Given the description of an element on the screen output the (x, y) to click on. 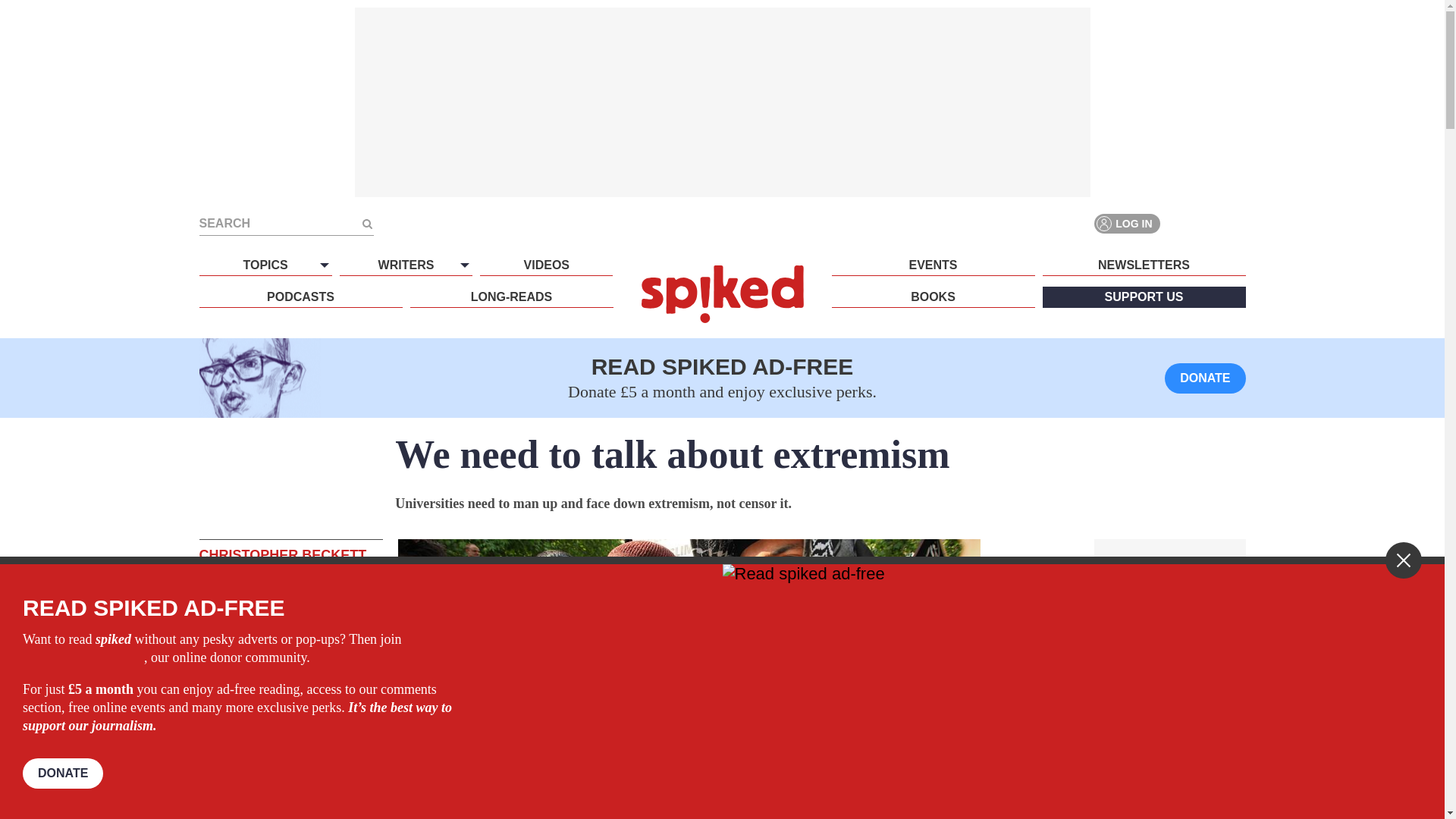
VIDEOS (546, 265)
Twitter (1207, 223)
LONG-READS (510, 296)
Facebook (1180, 223)
LOG IN (1126, 223)
spiked - humanity is underrated (722, 293)
PODCASTS (299, 296)
YouTube (1234, 223)
BOOKS (932, 296)
WRITERS (405, 265)
